Given the description of an element on the screen output the (x, y) to click on. 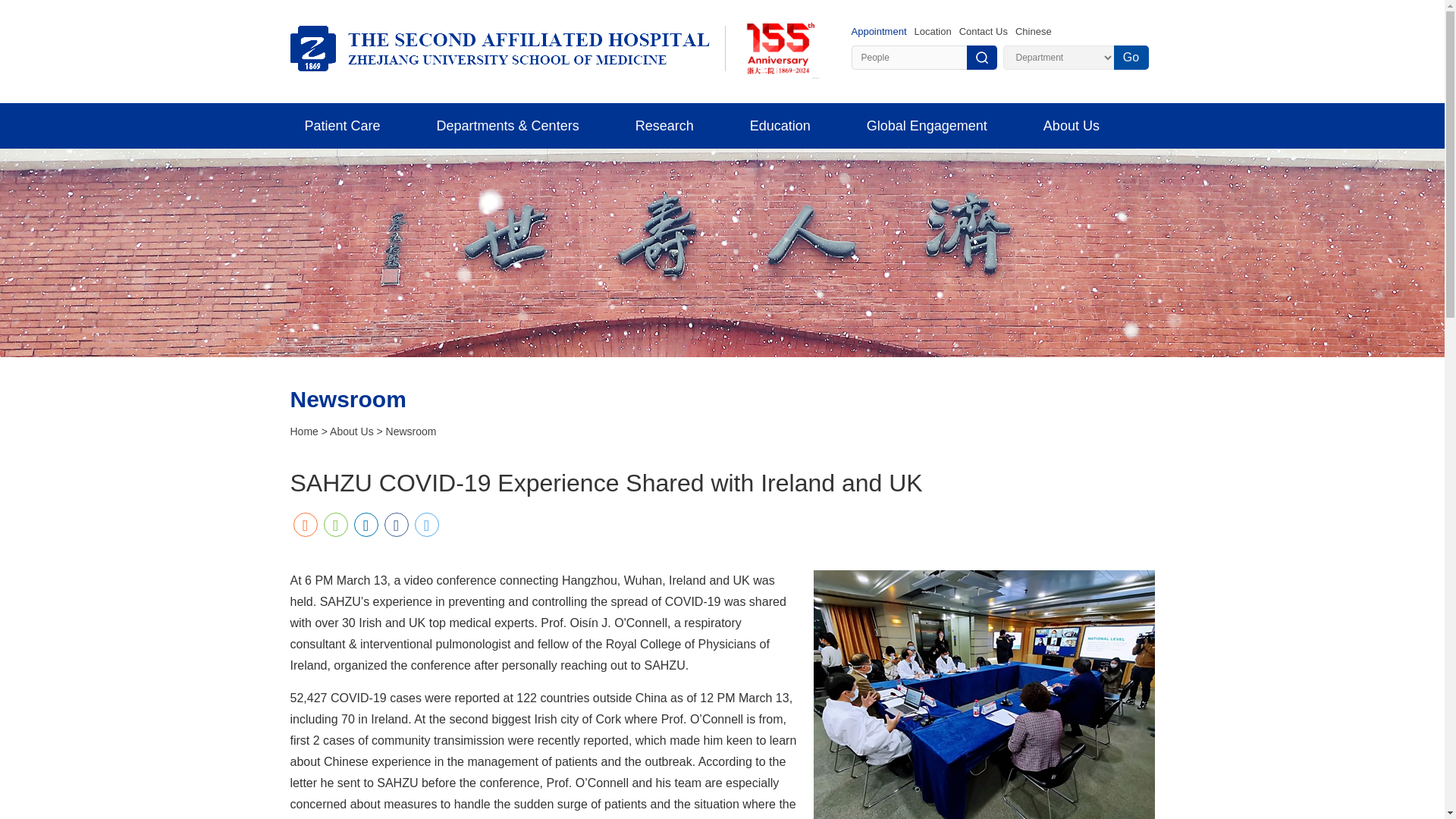
Contact Us (983, 30)
Go (1130, 57)
Go (1130, 57)
Appointment (877, 30)
Patient Care (341, 125)
Chinese (1032, 30)
Go (1130, 57)
Location (933, 30)
